Given the description of an element on the screen output the (x, y) to click on. 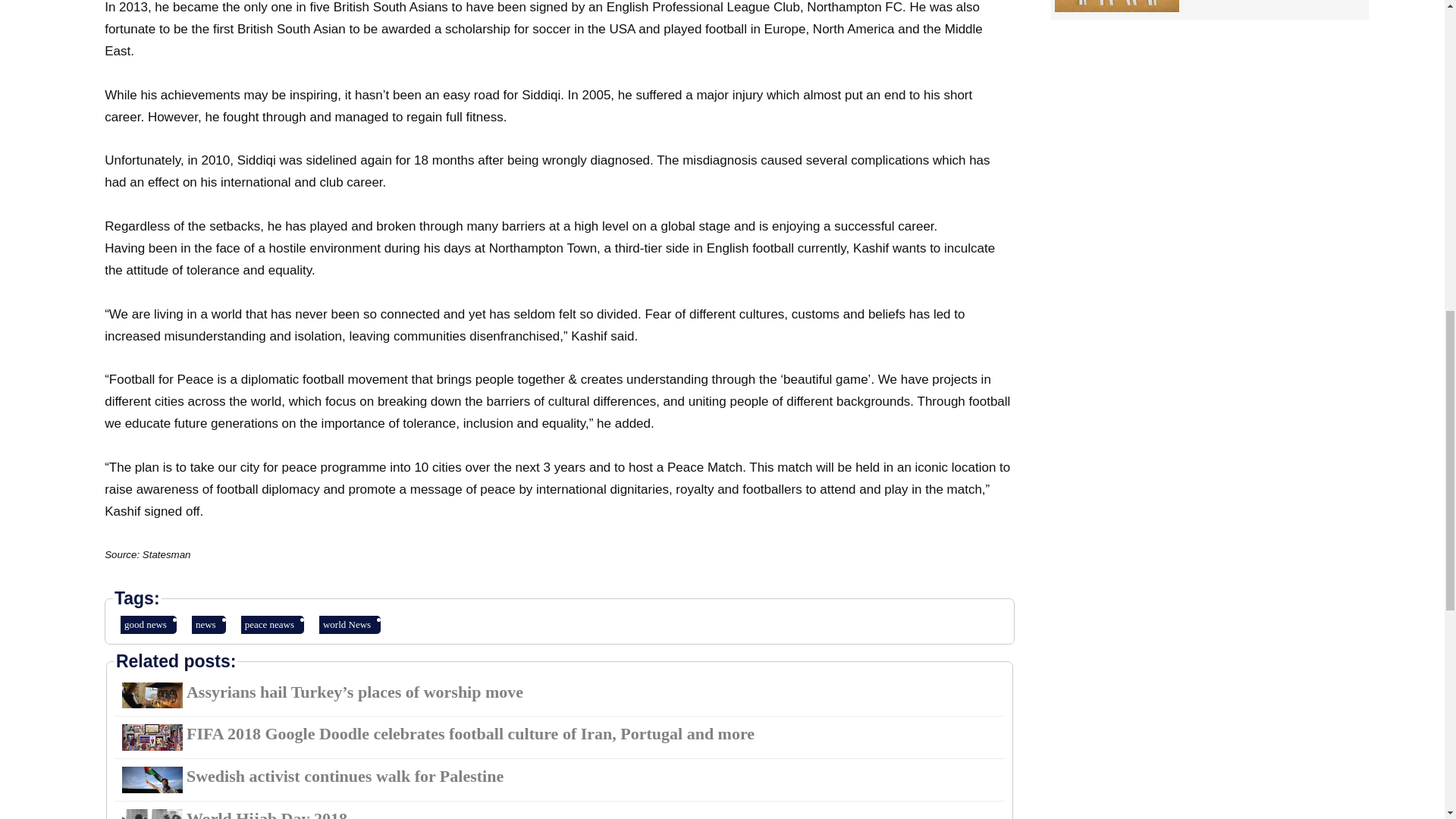
peace neaws (272, 624)
world News (349, 624)
news (208, 624)
good news (148, 624)
